Given the description of an element on the screen output the (x, y) to click on. 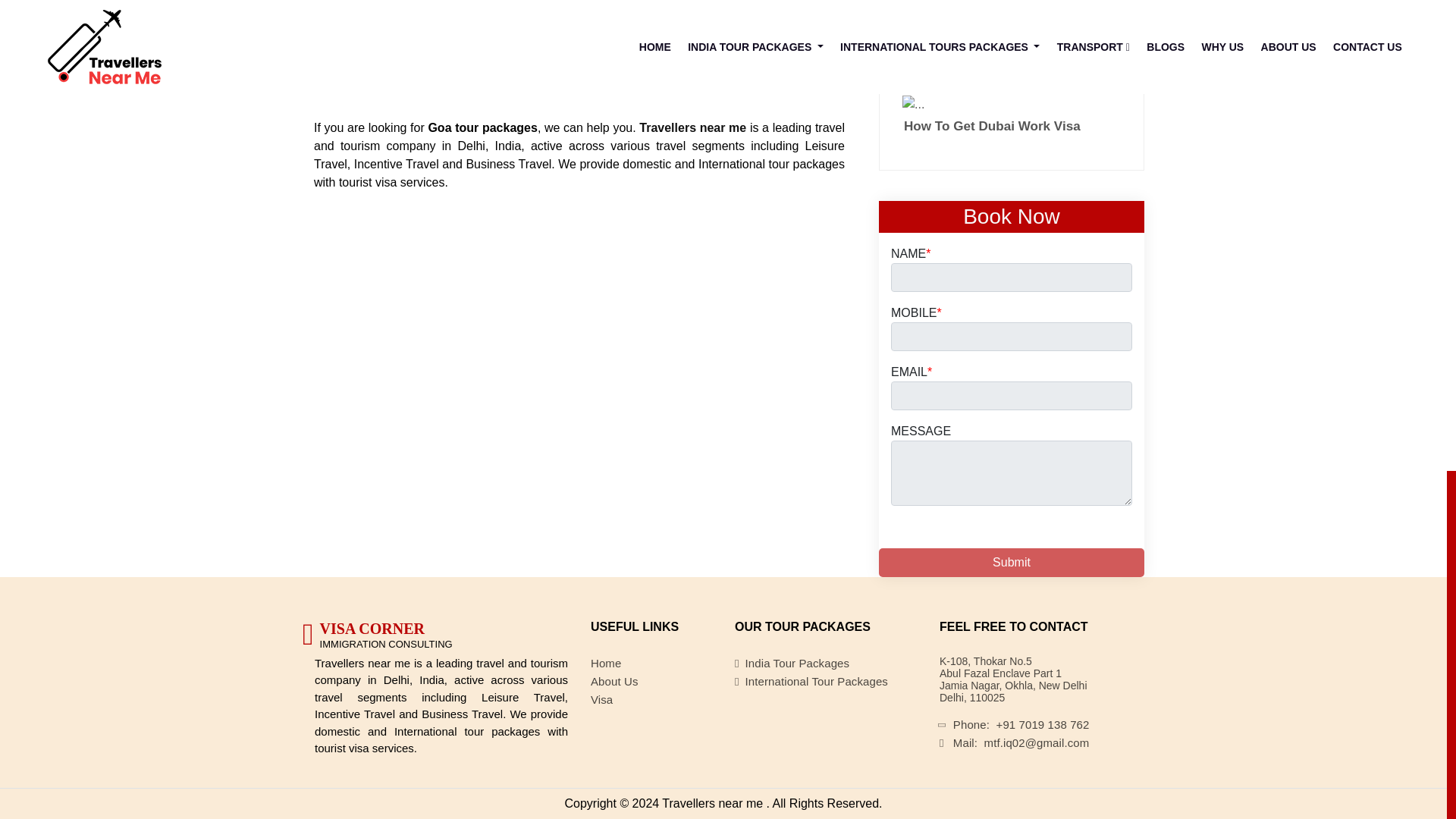
How To Get Dubai Work Visa (1011, 115)
Things To Know Before Working In Dubai (1011, 52)
10 Best Places To Visit In South India (1011, 4)
Submit (1011, 562)
Travellers near me (692, 127)
